Given the description of an element on the screen output the (x, y) to click on. 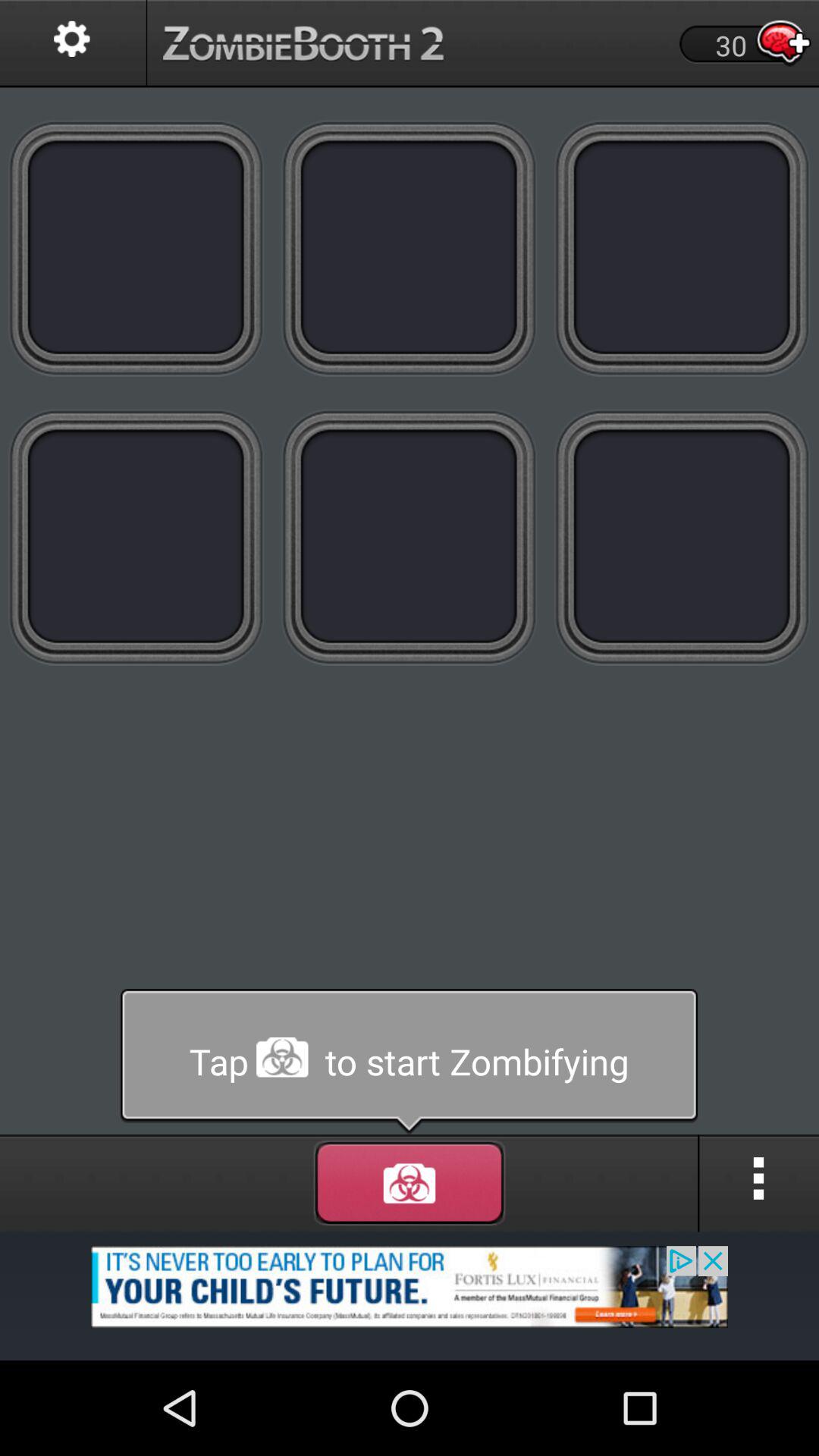
start zoom (408, 1061)
